Given the description of an element on the screen output the (x, y) to click on. 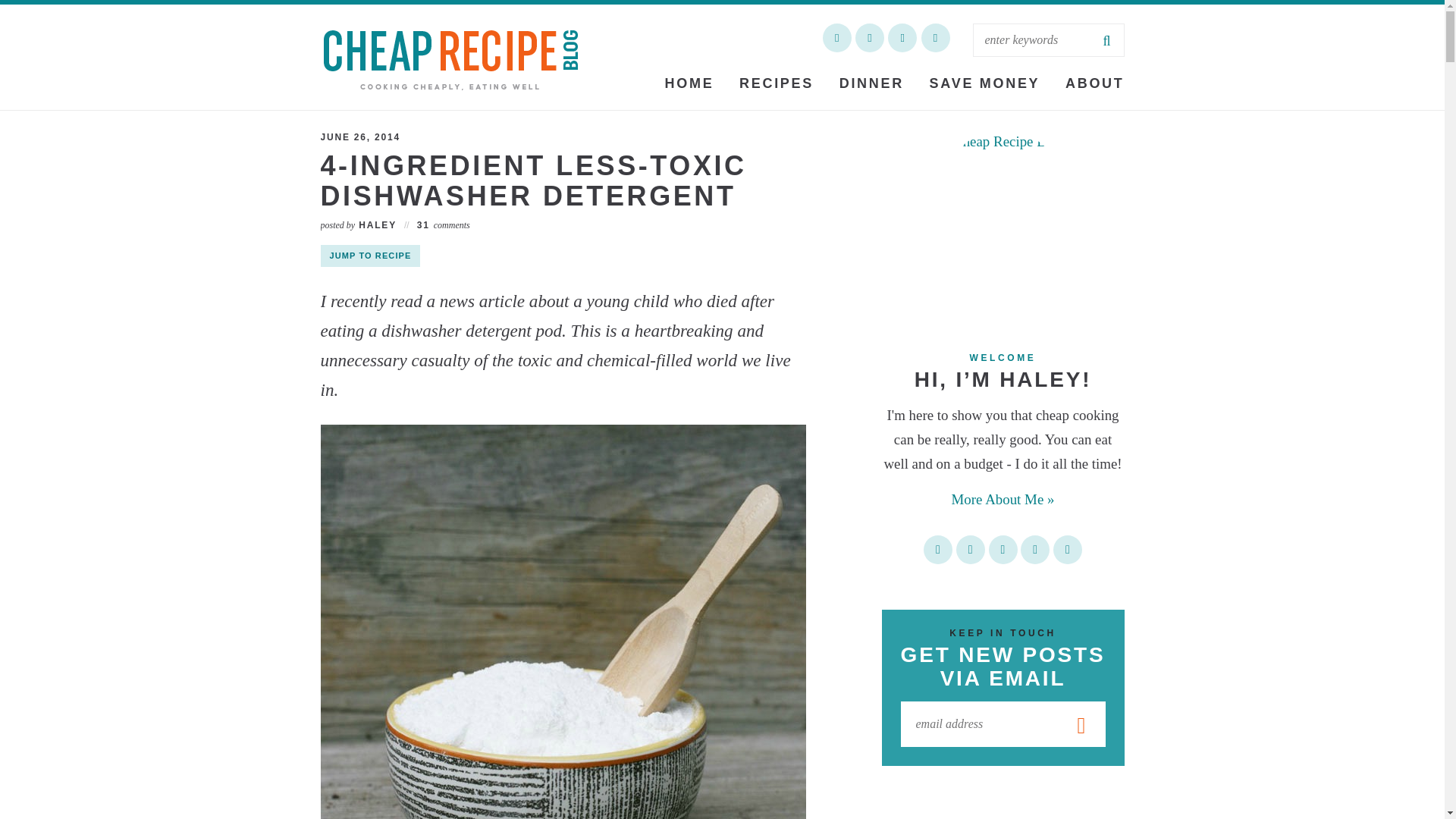
Facebook (1034, 549)
Pinterest (970, 549)
Twitter (1066, 549)
HOME (689, 83)
Instagram (1002, 549)
Facebook (869, 37)
Instagram (934, 37)
RSS Feed (937, 549)
SAVE MONEY (984, 83)
Pinterest (902, 37)
